Given the description of an element on the screen output the (x, y) to click on. 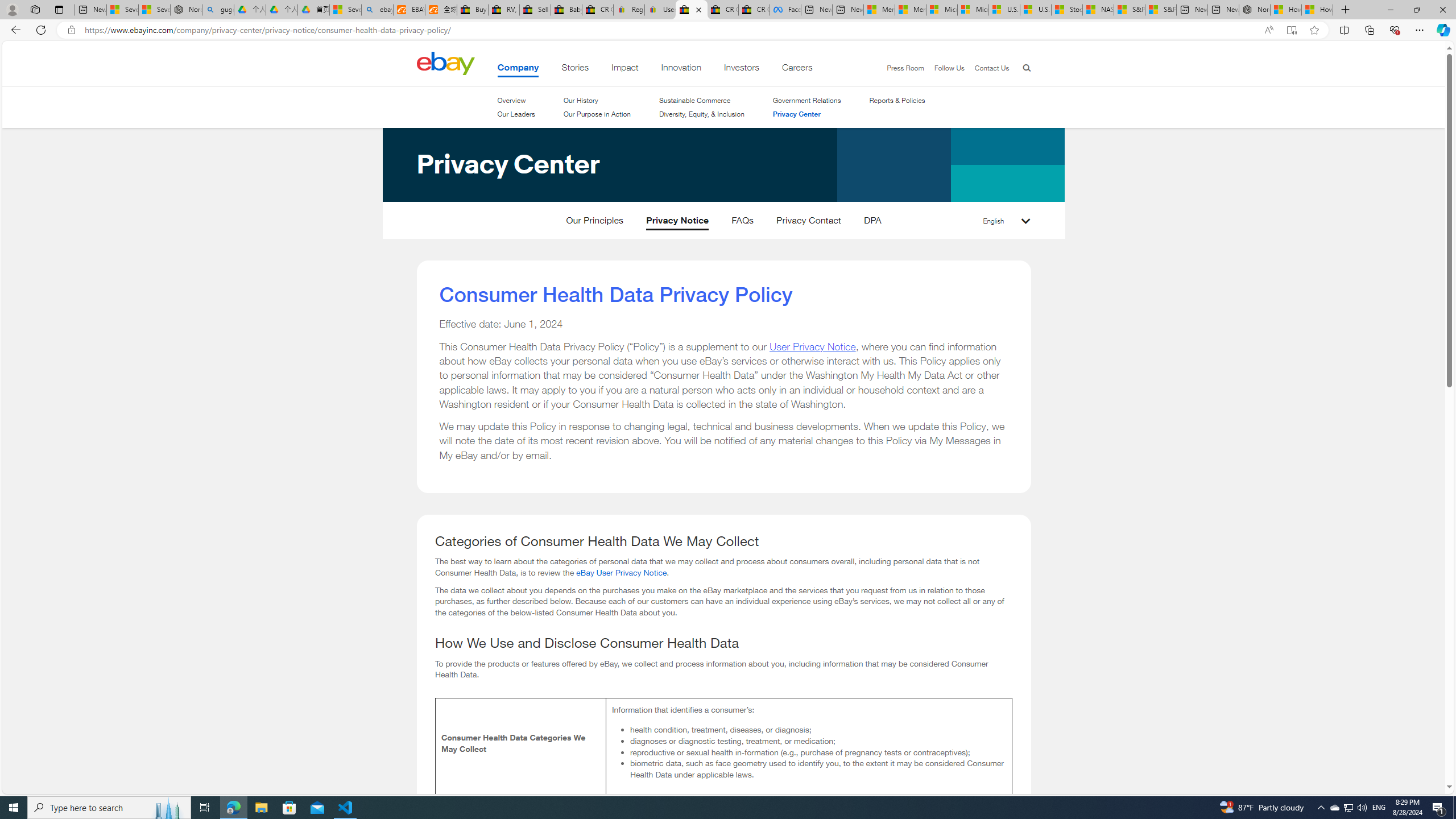
Sell worldwide with eBay (535, 9)
Sustainable Commerce (701, 100)
Buy Auto Parts & Accessories | eBay (472, 9)
Contact Us (986, 68)
Stories (575, 69)
Consumer Health Data Privacy Policy - eBay Inc. (691, 9)
Privacy Center (462, 225)
Press Room (905, 67)
Government Relations (806, 99)
